Given the description of an element on the screen output the (x, y) to click on. 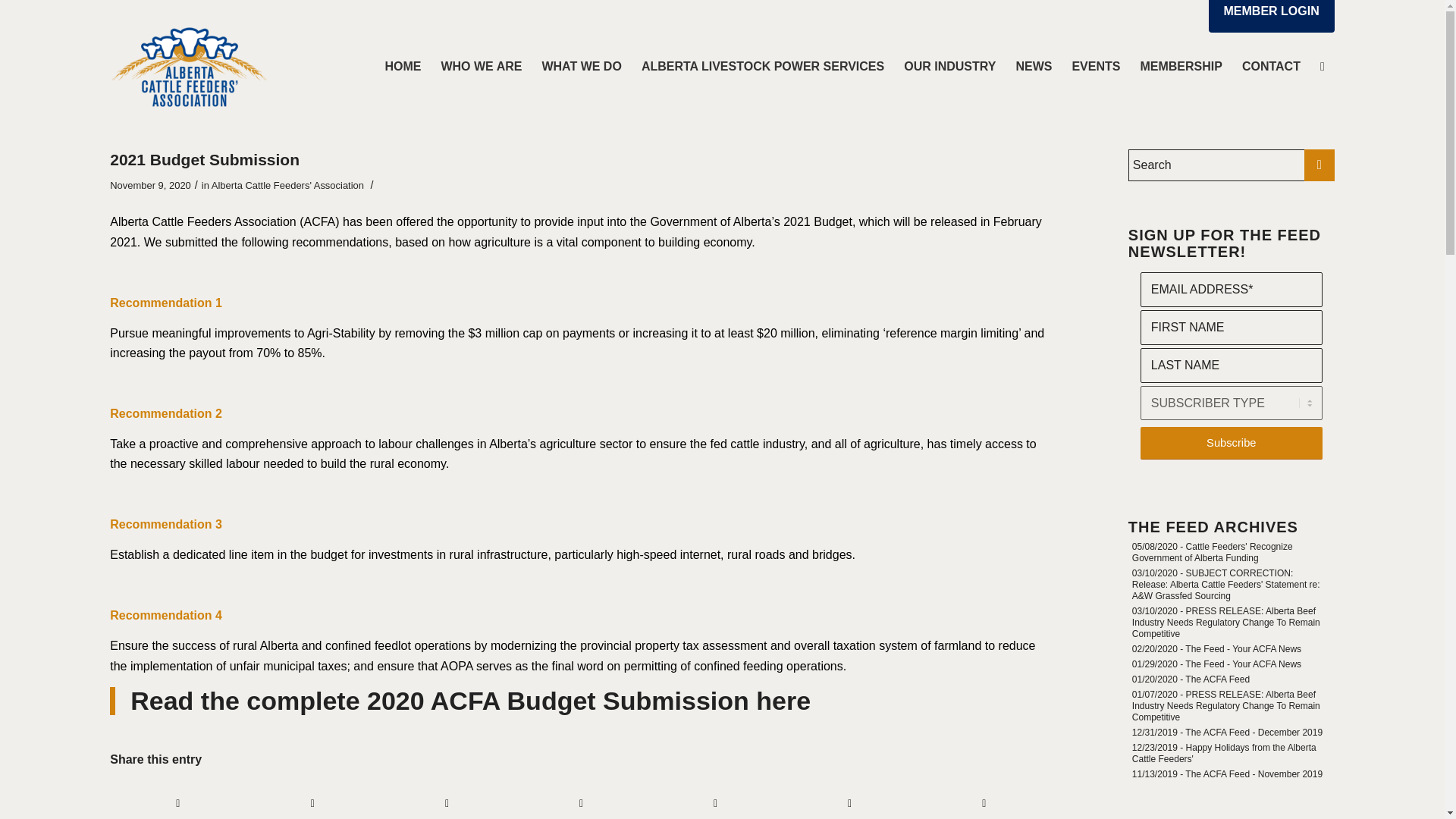
2021 Budget Submission (204, 159)
WHAT WE DO (580, 66)
ALBERTA LIVESTOCK POWER SERVICES (762, 66)
Read the complete 2020 ACFA Budget Submission here (470, 700)
MEMBERSHIP (1180, 66)
Subscribe (1231, 442)
Permanent Link: 2021 Budget Submission (204, 159)
WHO WE ARE (480, 66)
MEMBER LOGIN (1271, 16)
Alberta Cattle Feeders' Association (287, 184)
OUR INDUSTRY (949, 66)
Cattle Feeders' Recognize Government of Alberta Funding (1212, 552)
